Given the description of an element on the screen output the (x, y) to click on. 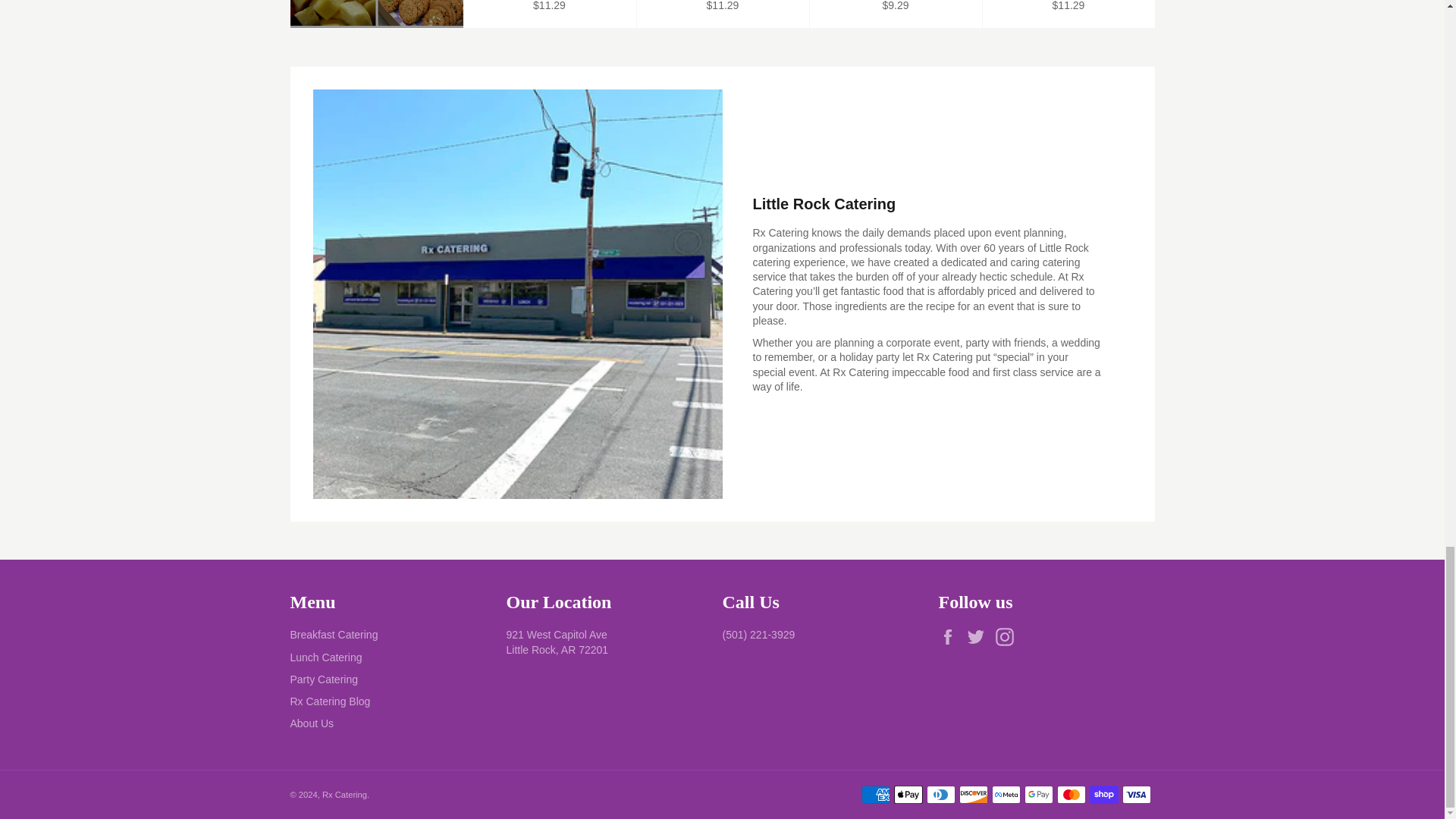
Rx Catering on Twitter (979, 637)
Rx Catering on Instagram (1008, 637)
Rx Catering on Facebook (951, 637)
